Given the description of an element on the screen output the (x, y) to click on. 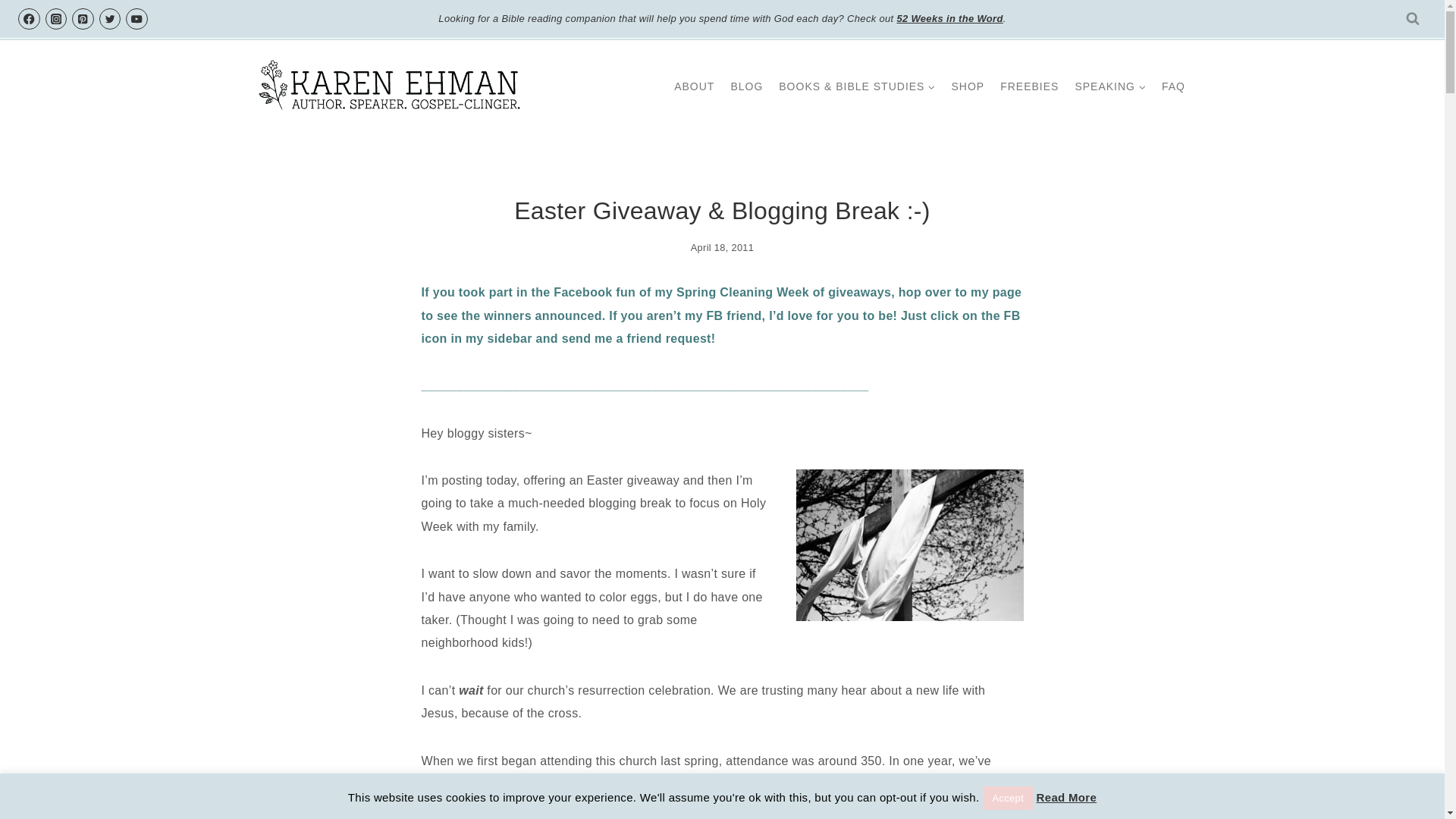
BLOG (746, 86)
SPEAKING (1110, 86)
SHOP (967, 86)
FREEBIES (1029, 86)
52 Weeks in the Word (949, 18)
ABOUT (694, 86)
FAQ (1172, 86)
cross (909, 544)
